Given the description of an element on the screen output the (x, y) to click on. 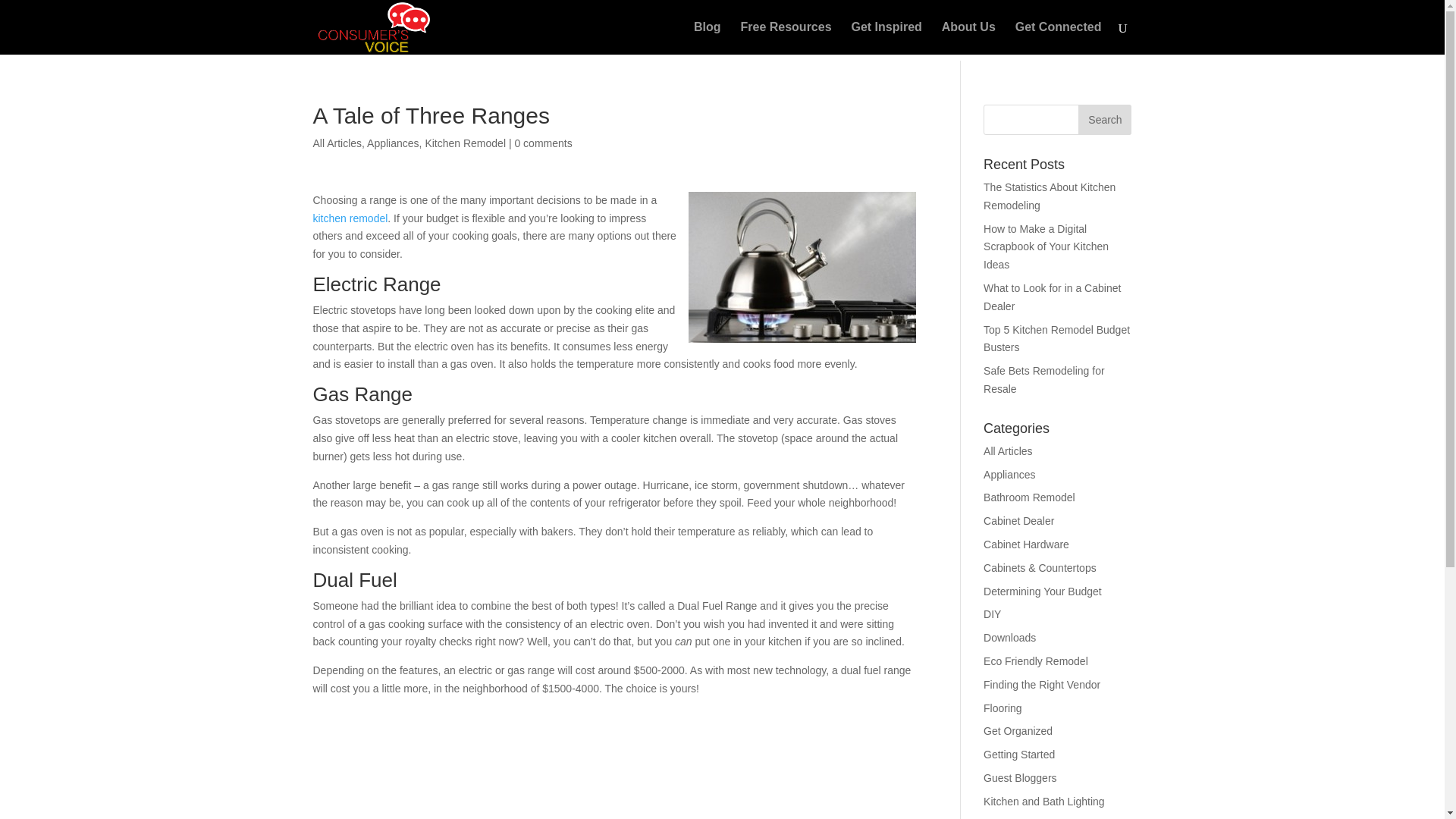
DIY (992, 613)
Free Resources (785, 38)
Guest Bloggers (1020, 777)
Appliances (1009, 474)
Determining Your Budget (1043, 591)
kitchen remodel (350, 218)
Bathroom Remodel (1029, 497)
Search (1104, 119)
Finding the Right Vendor (1042, 684)
Get Connected (1058, 38)
